Given the description of an element on the screen output the (x, y) to click on. 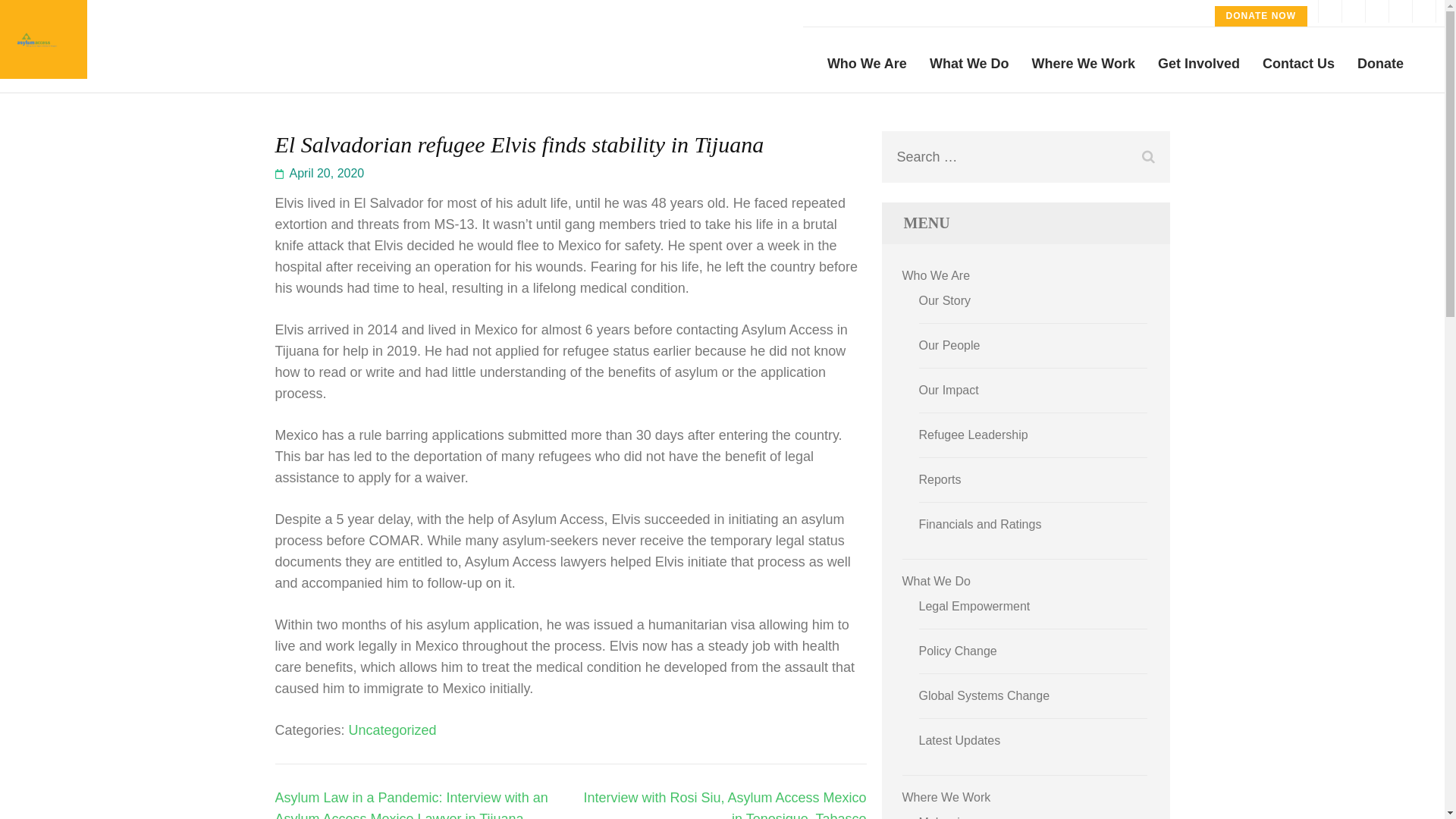
twitter (1352, 11)
Asylum Access (172, 50)
Search (1147, 156)
Search (1147, 156)
youtube (1423, 11)
linkedin (1400, 11)
instagram (1377, 11)
DONATE NOW (1260, 15)
facebook (1328, 11)
